Given the description of an element on the screen output the (x, y) to click on. 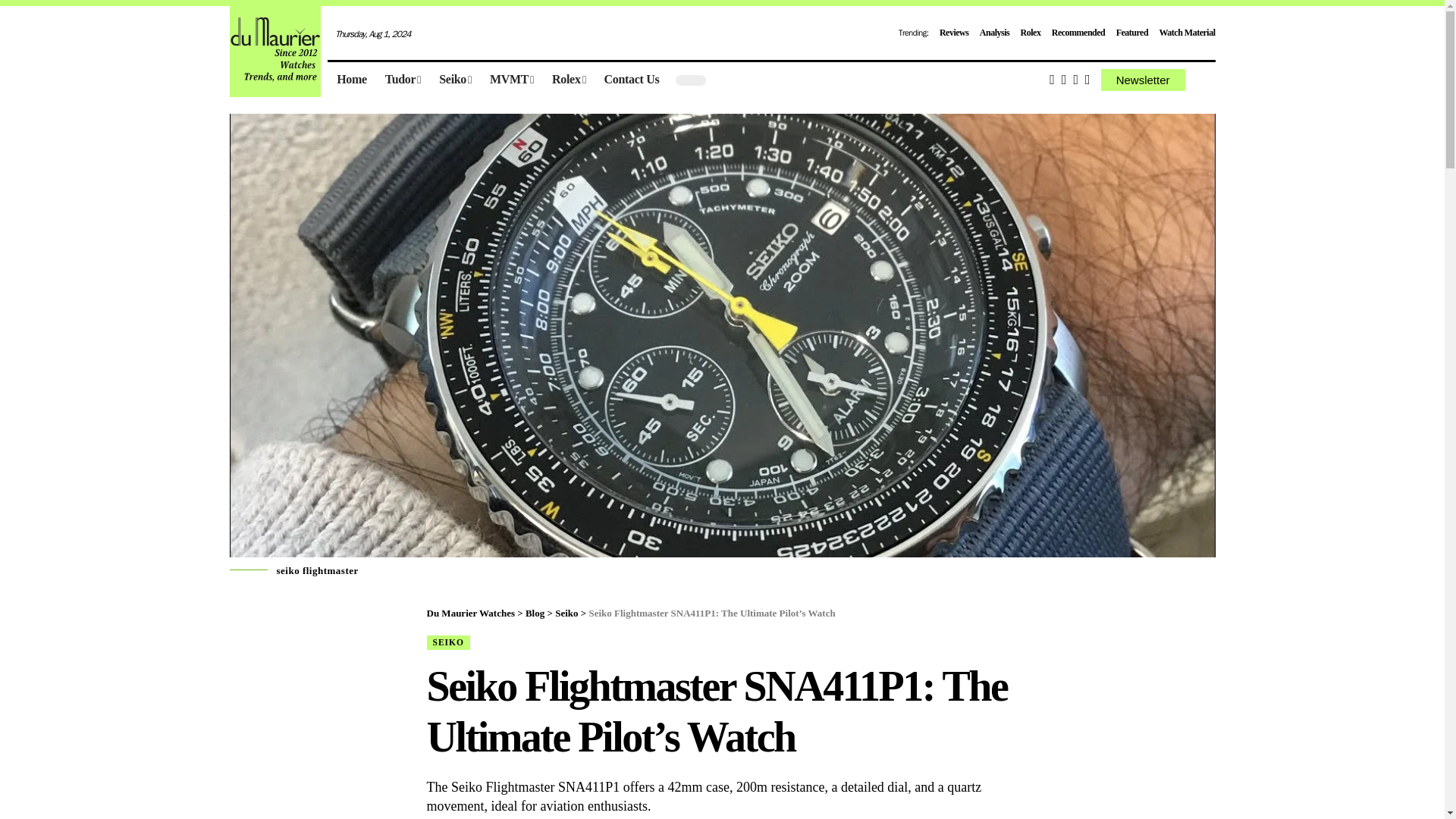
MVMT (511, 80)
Tudor (402, 80)
Home (351, 80)
Reviews (954, 32)
Recommended (1078, 32)
Analysis (994, 32)
Watch Material (1186, 32)
Featured (1132, 32)
Seiko (454, 80)
Rolex (1030, 32)
